Given the description of an element on the screen output the (x, y) to click on. 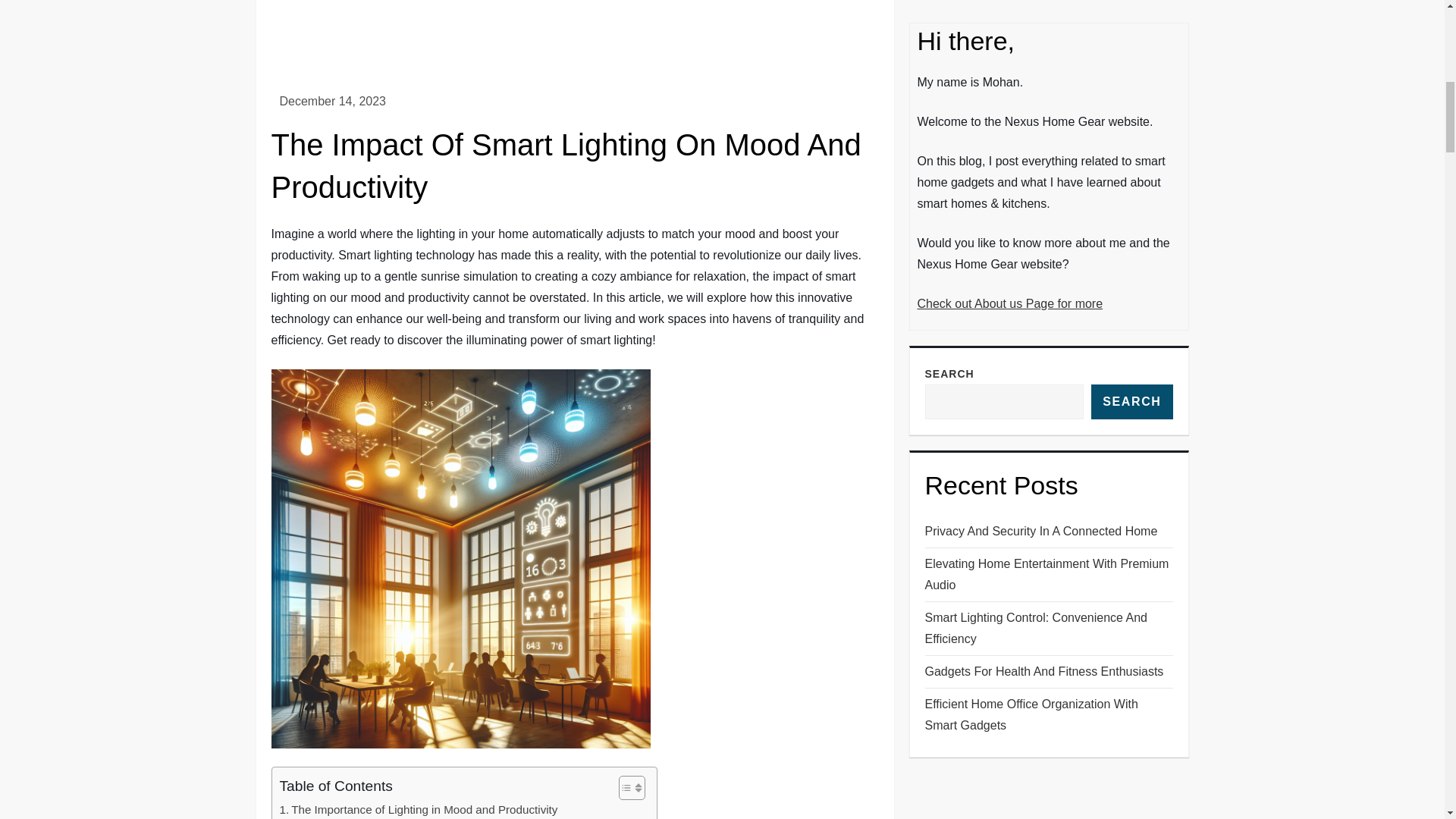
The Importance of Lighting in Mood and Productivity (418, 809)
December 14, 2023 (332, 101)
The Importance of Lighting in Mood and Productivity (418, 809)
